Given the description of an element on the screen output the (x, y) to click on. 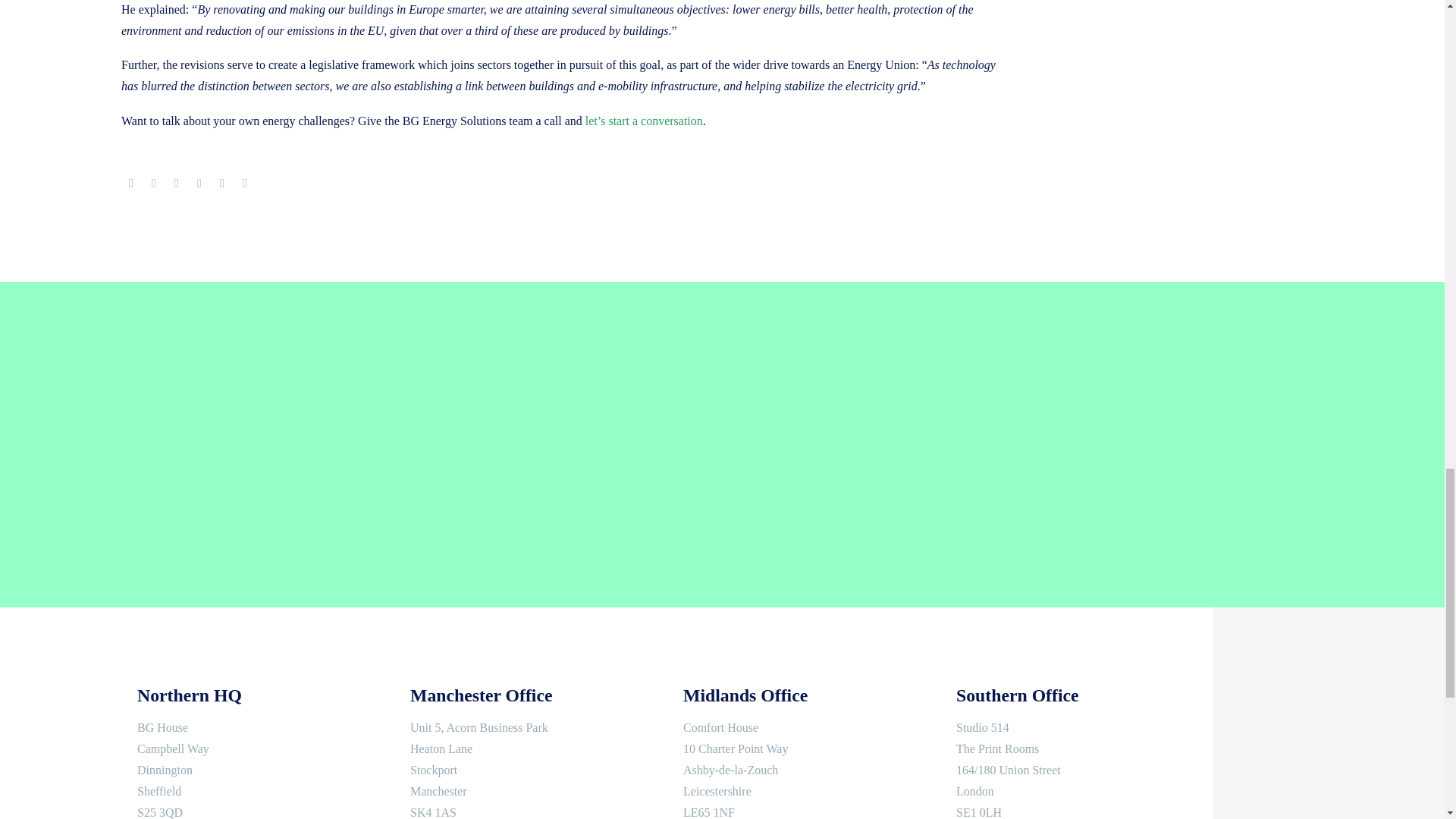
Pinterest (176, 183)
LinkedIn (221, 183)
Reddit (244, 183)
Facebook (130, 183)
Tumblr (199, 183)
Twitter (154, 183)
